Given the description of an element on the screen output the (x, y) to click on. 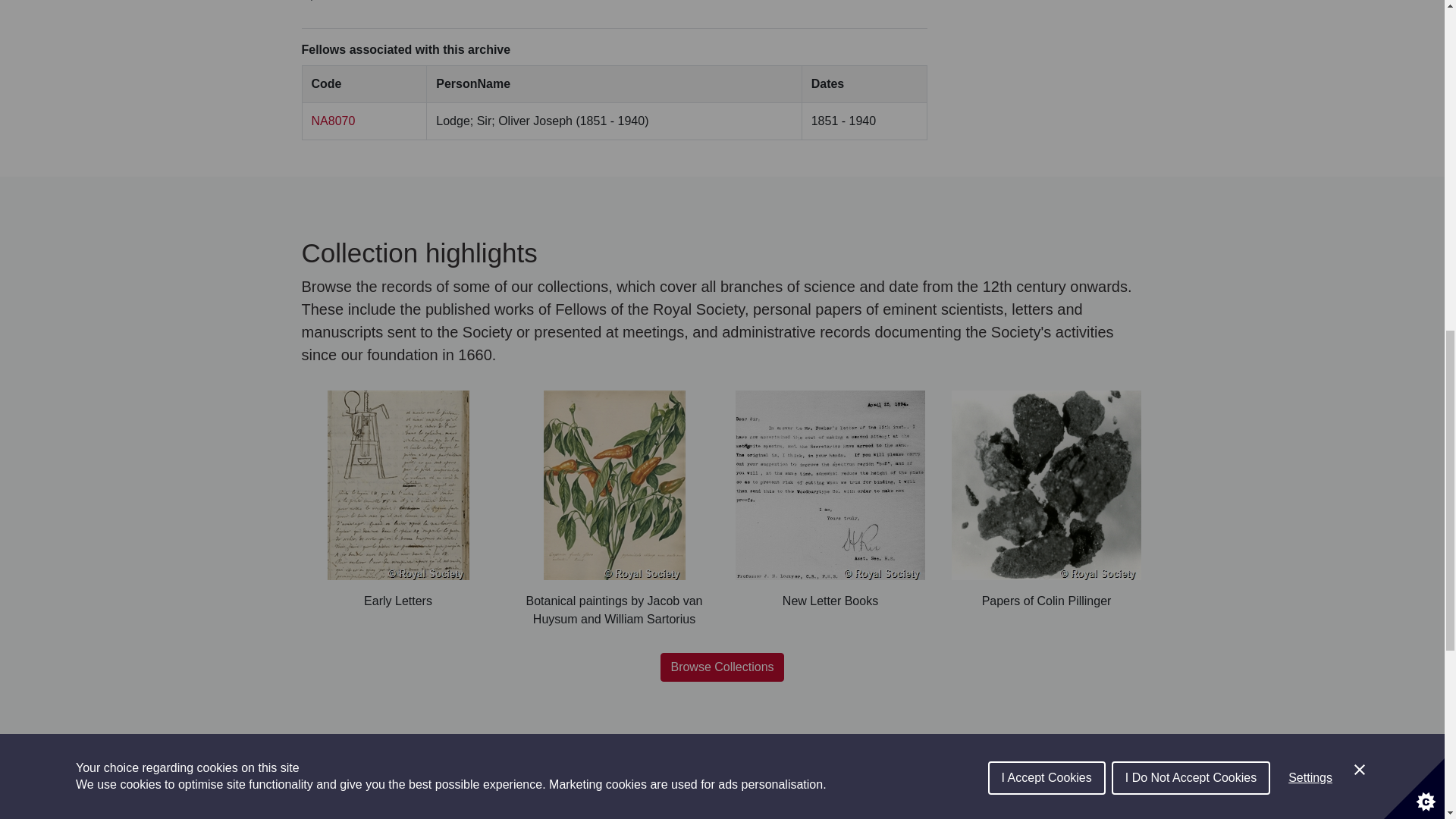
I Accept Cookies (1046, 12)
Show related Persons records. (333, 120)
I Do Not Accept Cookies (1190, 5)
Browse Collections (722, 666)
Sitemap (323, 776)
Privacy Policy (392, 776)
NA8070 (333, 120)
